Given the description of an element on the screen output the (x, y) to click on. 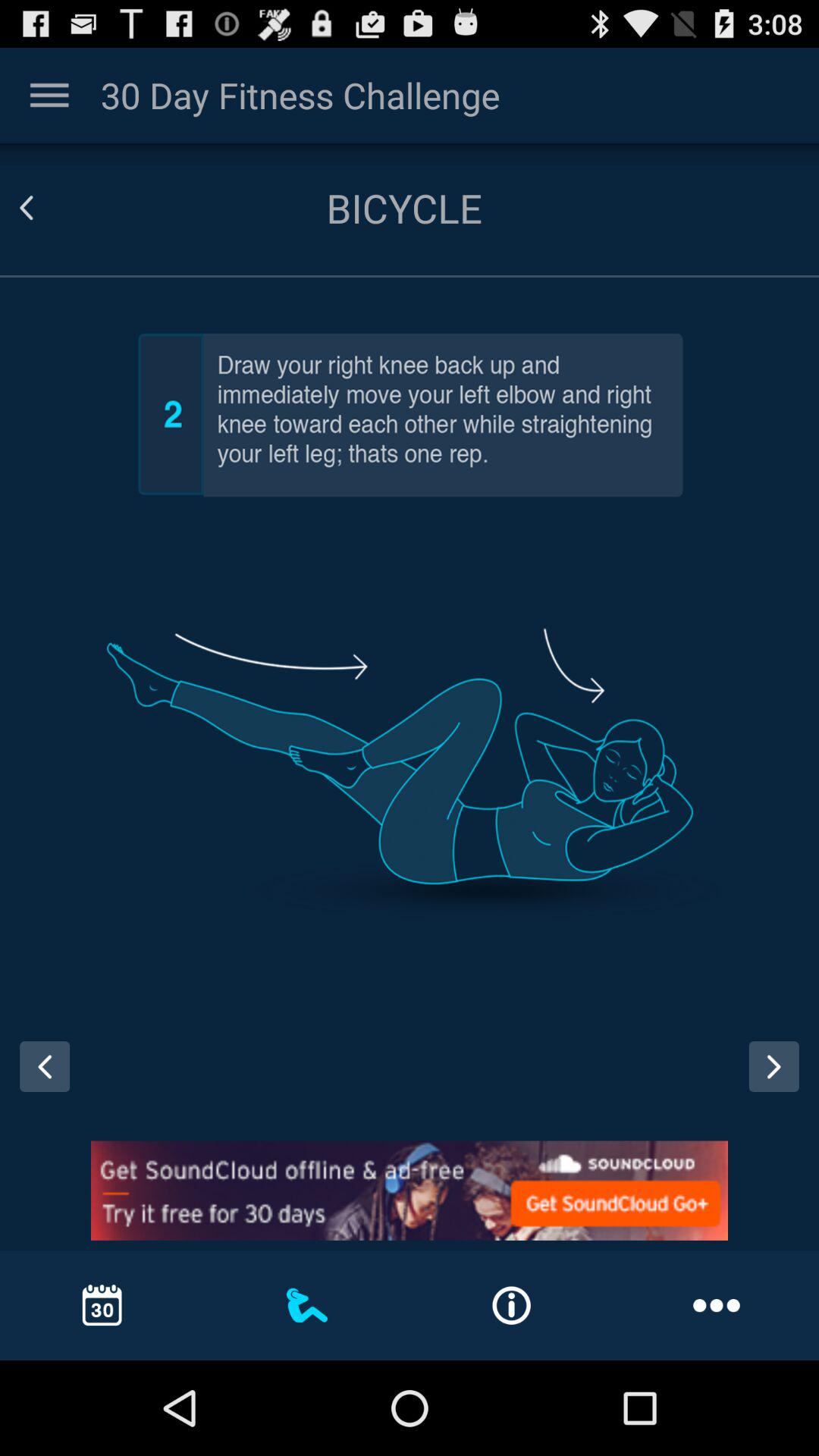
go back (39, 1081)
